Given the description of an element on the screen output the (x, y) to click on. 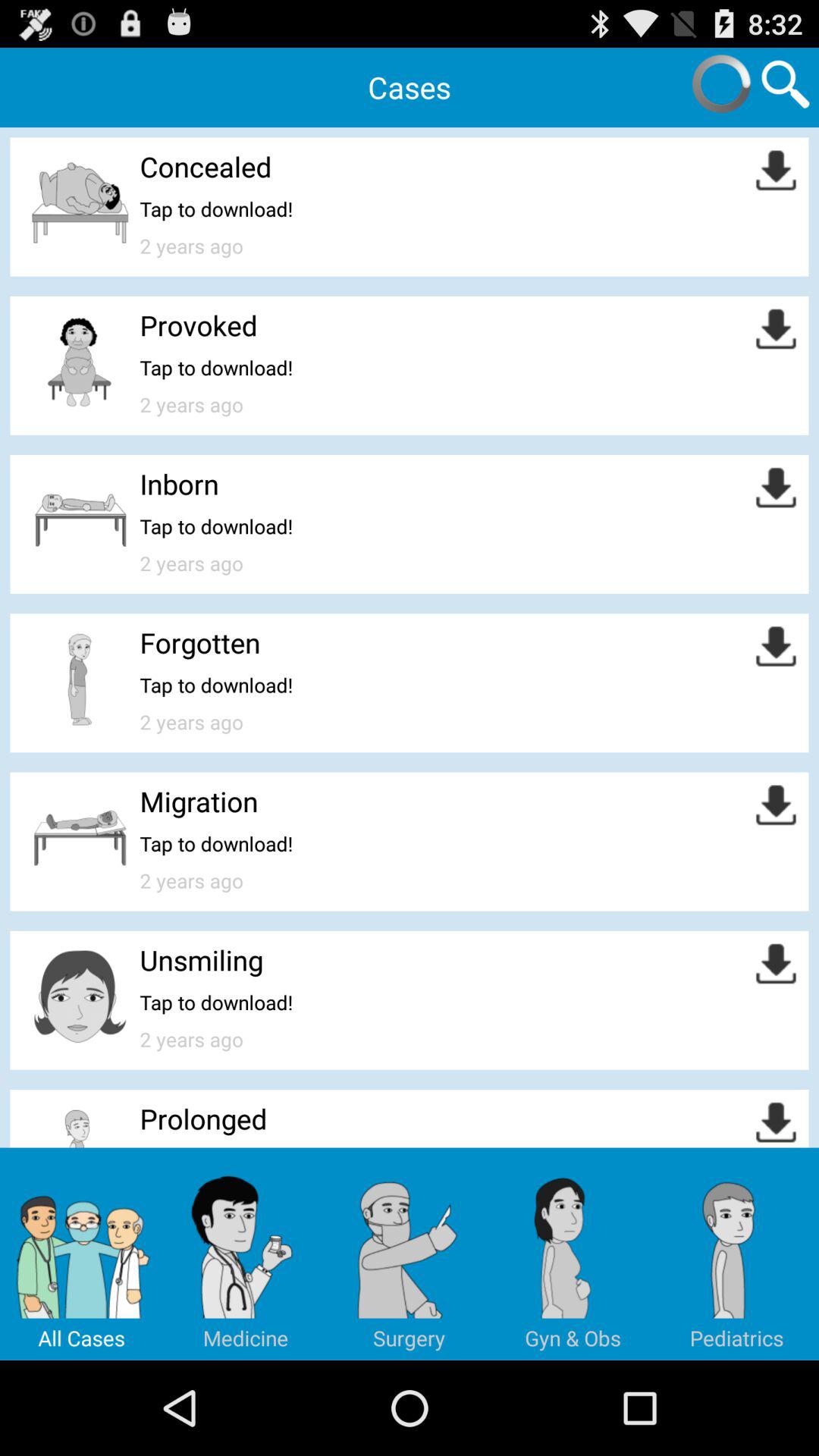
jump to provoked app (198, 325)
